Given the description of an element on the screen output the (x, y) to click on. 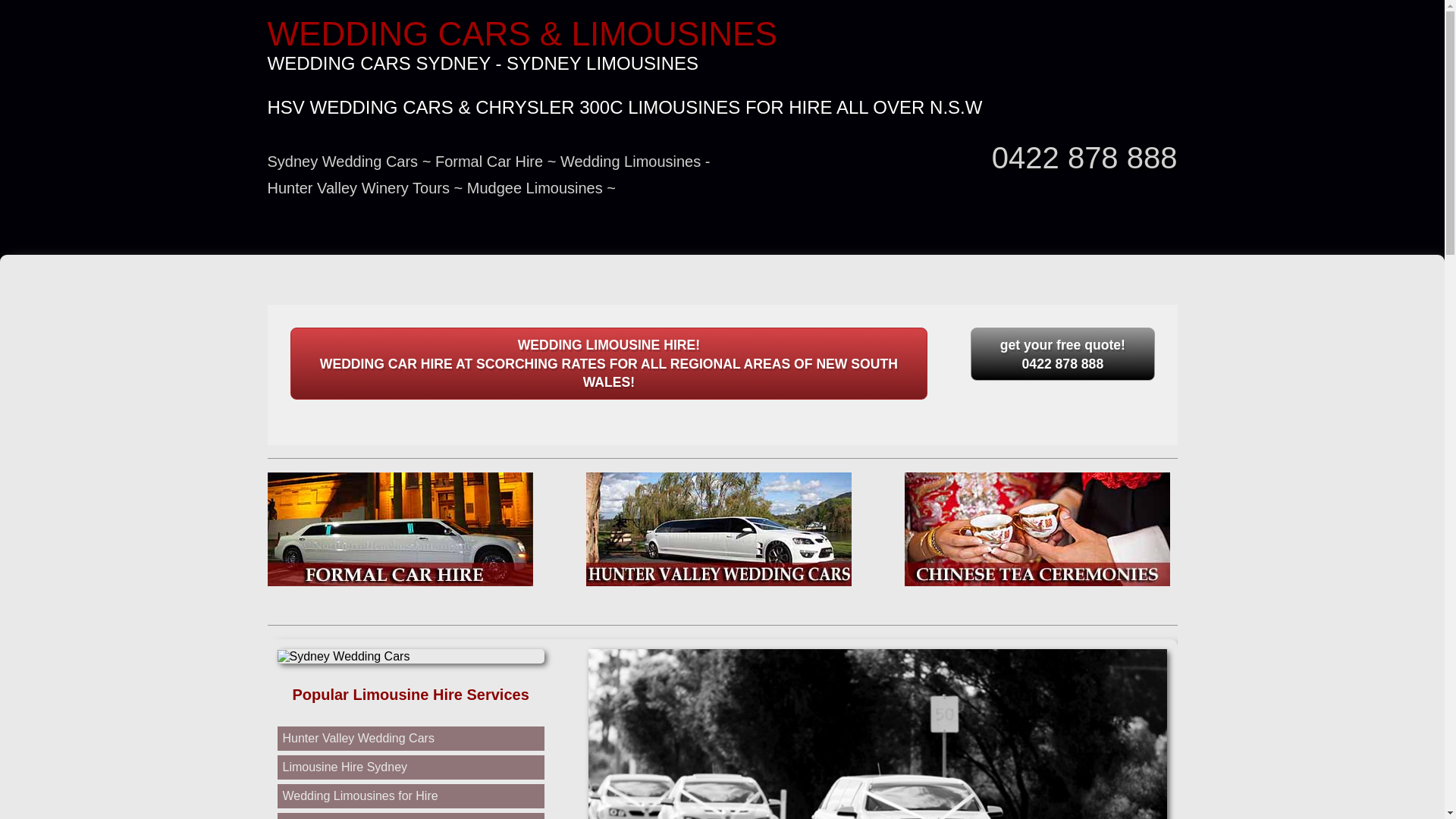
Hunter Valley Wedding Cars Element type: text (357, 737)
Wedding Limousines for Hire Element type: text (359, 795)
Limousine Hire Sydney Element type: text (344, 766)
